Given the description of an element on the screen output the (x, y) to click on. 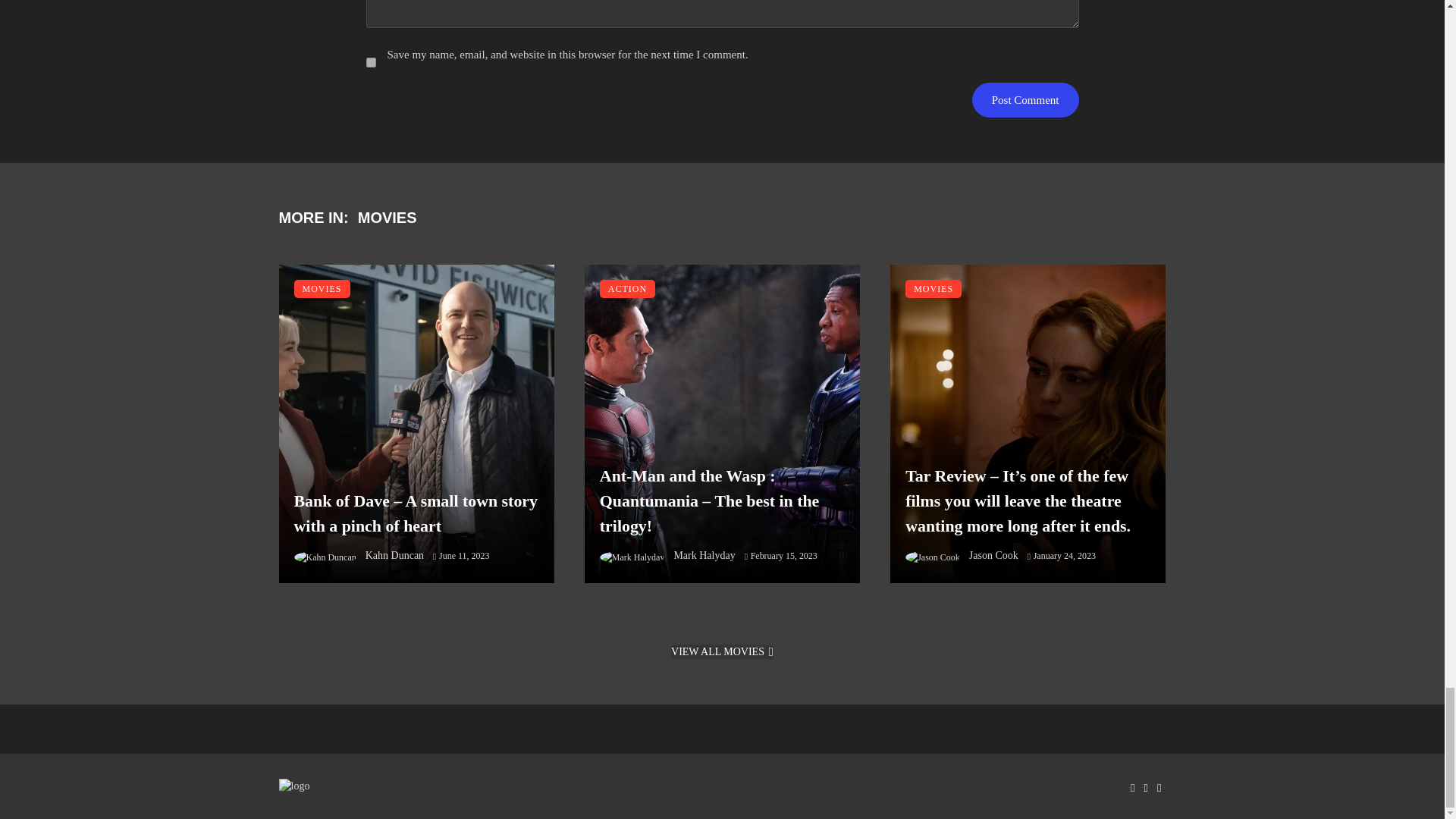
yes (370, 61)
Post Comment (1025, 99)
